Given the description of an element on the screen output the (x, y) to click on. 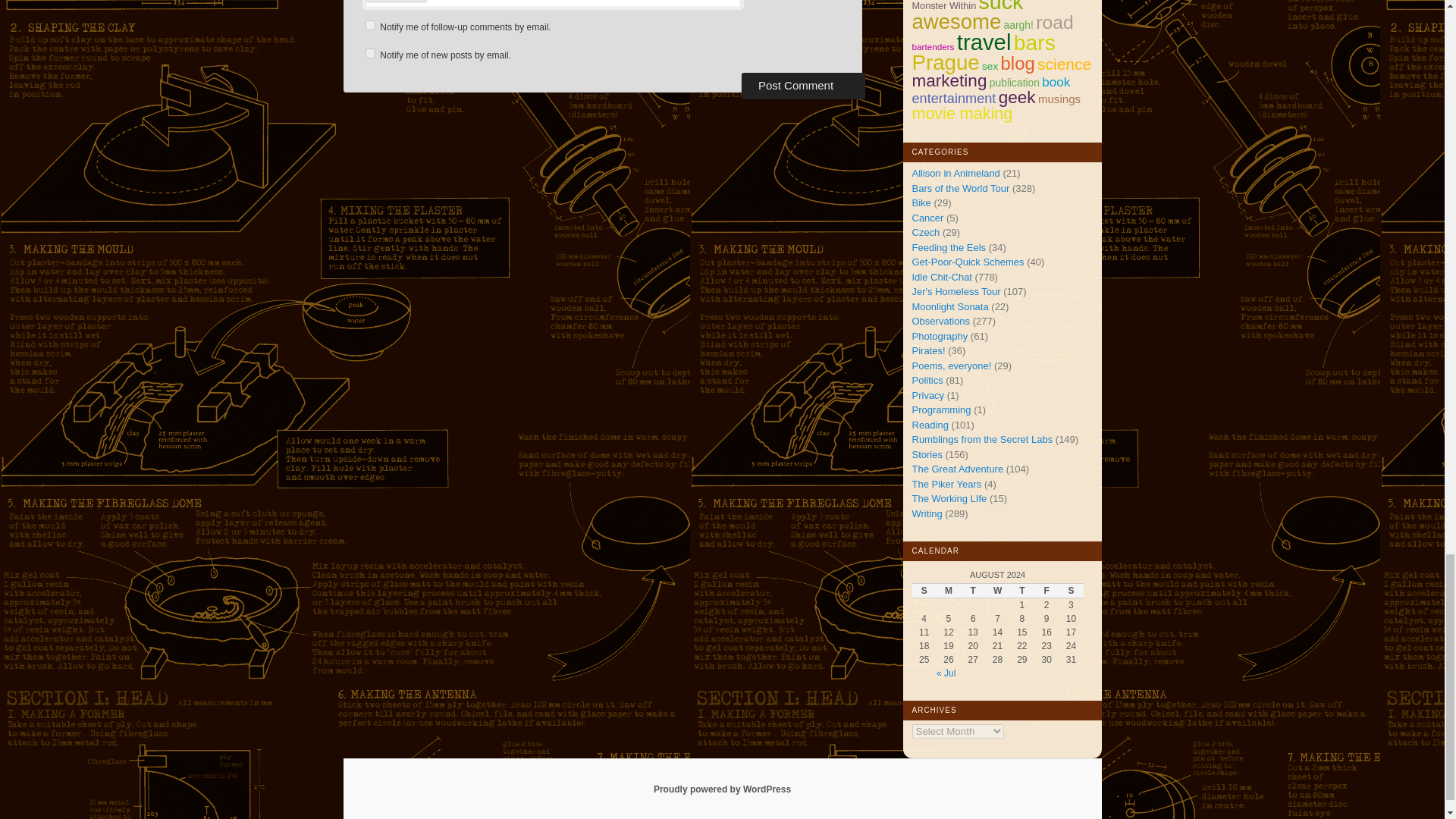
Post Comment (802, 85)
subscribe (370, 25)
subscribe (370, 53)
Post Comment (802, 85)
